Given the description of an element on the screen output the (x, y) to click on. 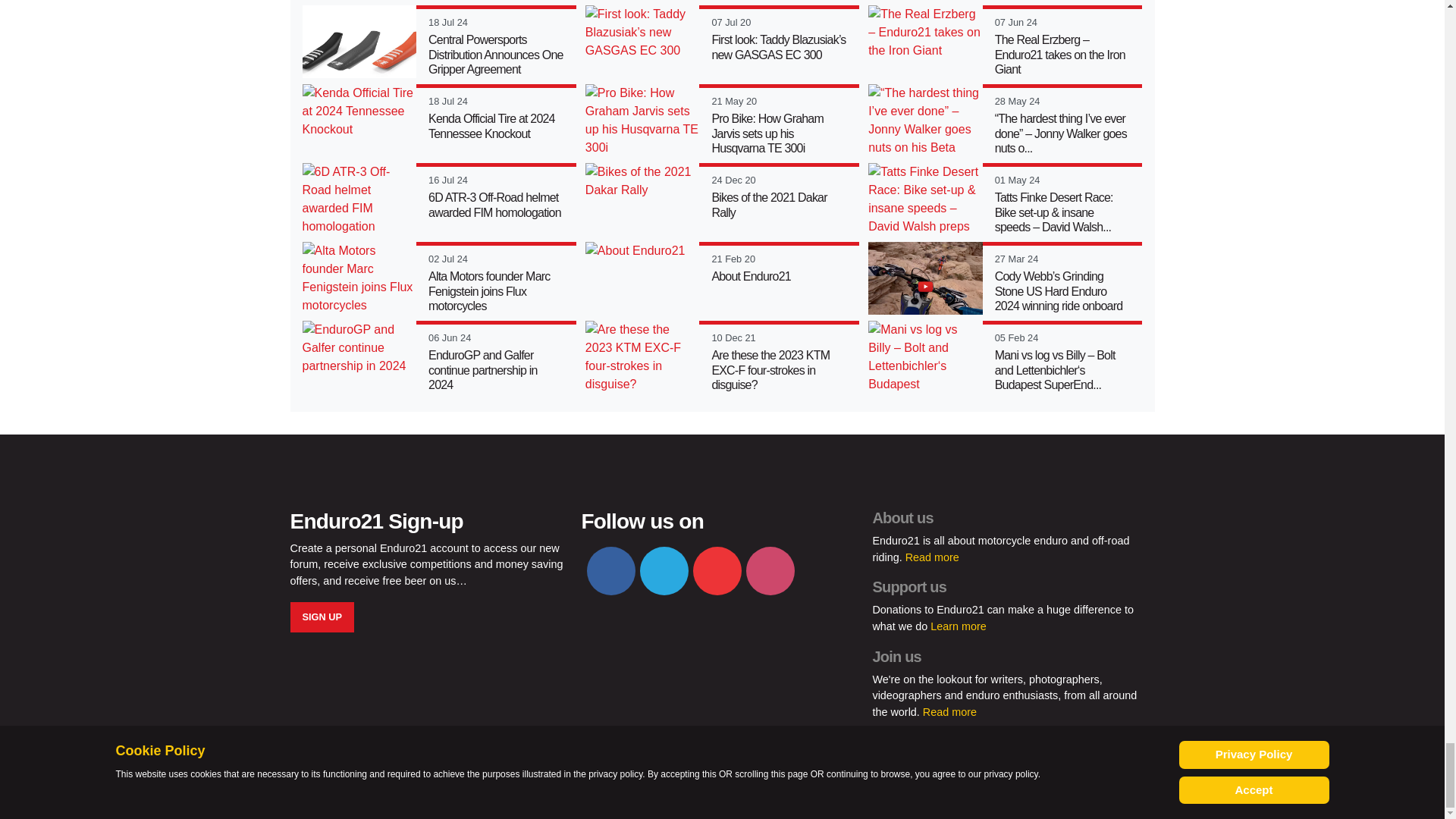
Follow us on Instagram (769, 571)
Follow us on Youtube (717, 571)
Follow us on Twitter (664, 571)
Follow us on Facebook (610, 571)
